Given the description of an element on the screen output the (x, y) to click on. 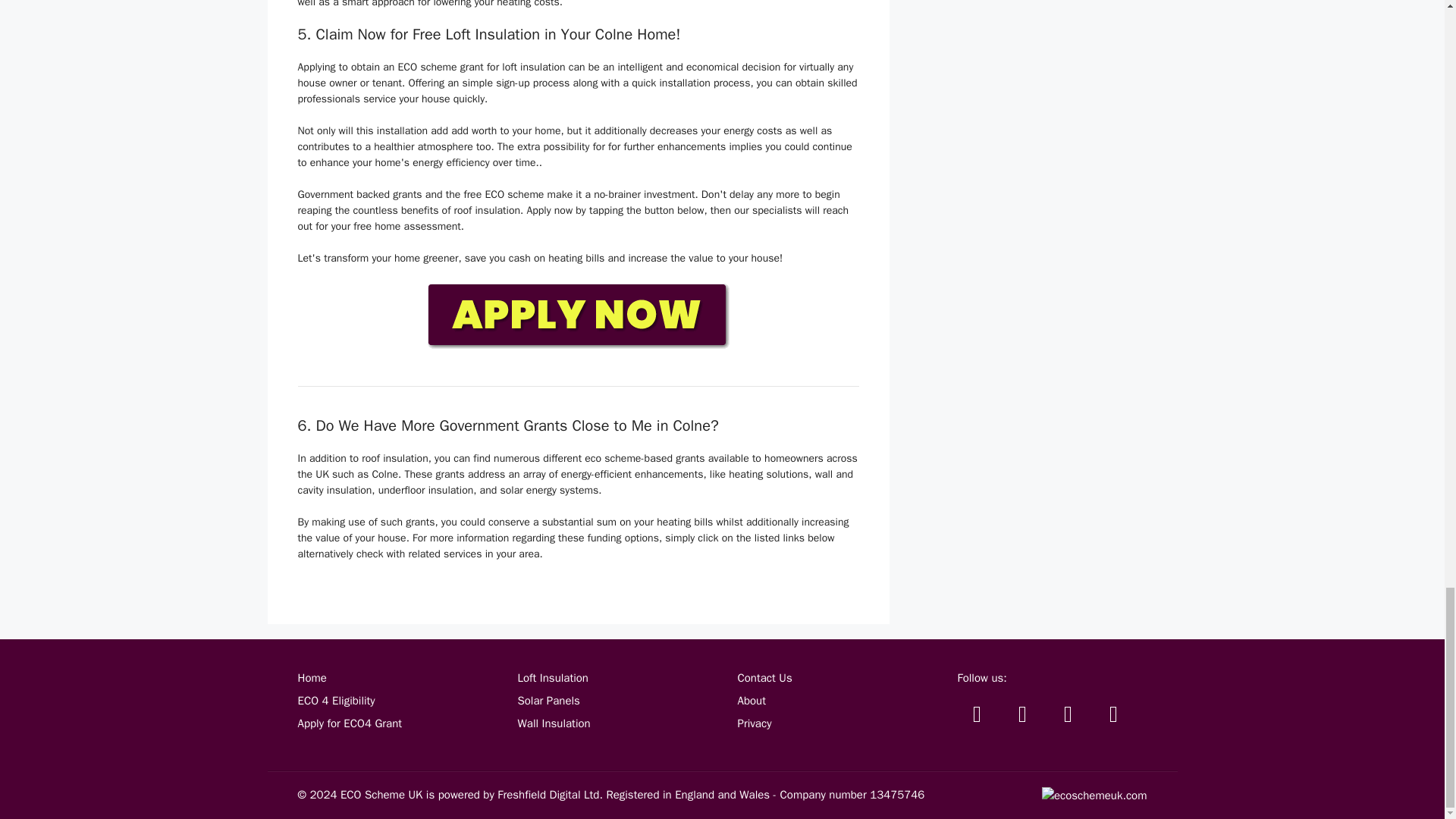
Facebook (1022, 713)
YouTube (1067, 713)
Home (311, 677)
Wall Insulation (552, 723)
About (750, 700)
Privacy (753, 723)
ECO Scheme UK (381, 794)
LinkedIn (1112, 713)
Loft Insulation (552, 677)
ECO 4 Eligibility (335, 700)
ecoschemeuk.com (1094, 795)
Apply for ECO4 Grant (349, 723)
Contact Us (764, 677)
Twitter (975, 713)
Solar Panels (547, 700)
